Given the description of an element on the screen output the (x, y) to click on. 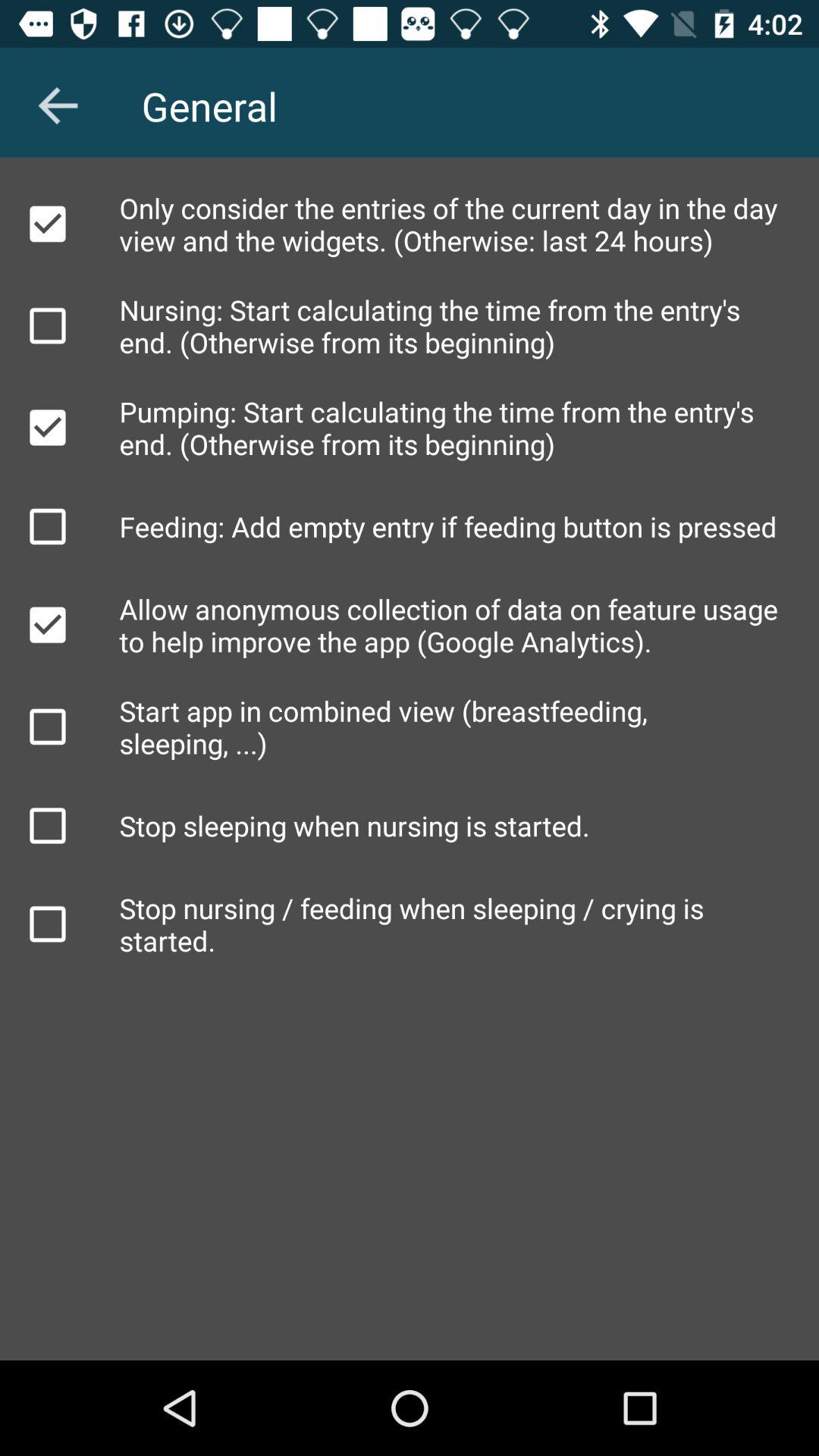
select option (47, 924)
